Given the description of an element on the screen output the (x, y) to click on. 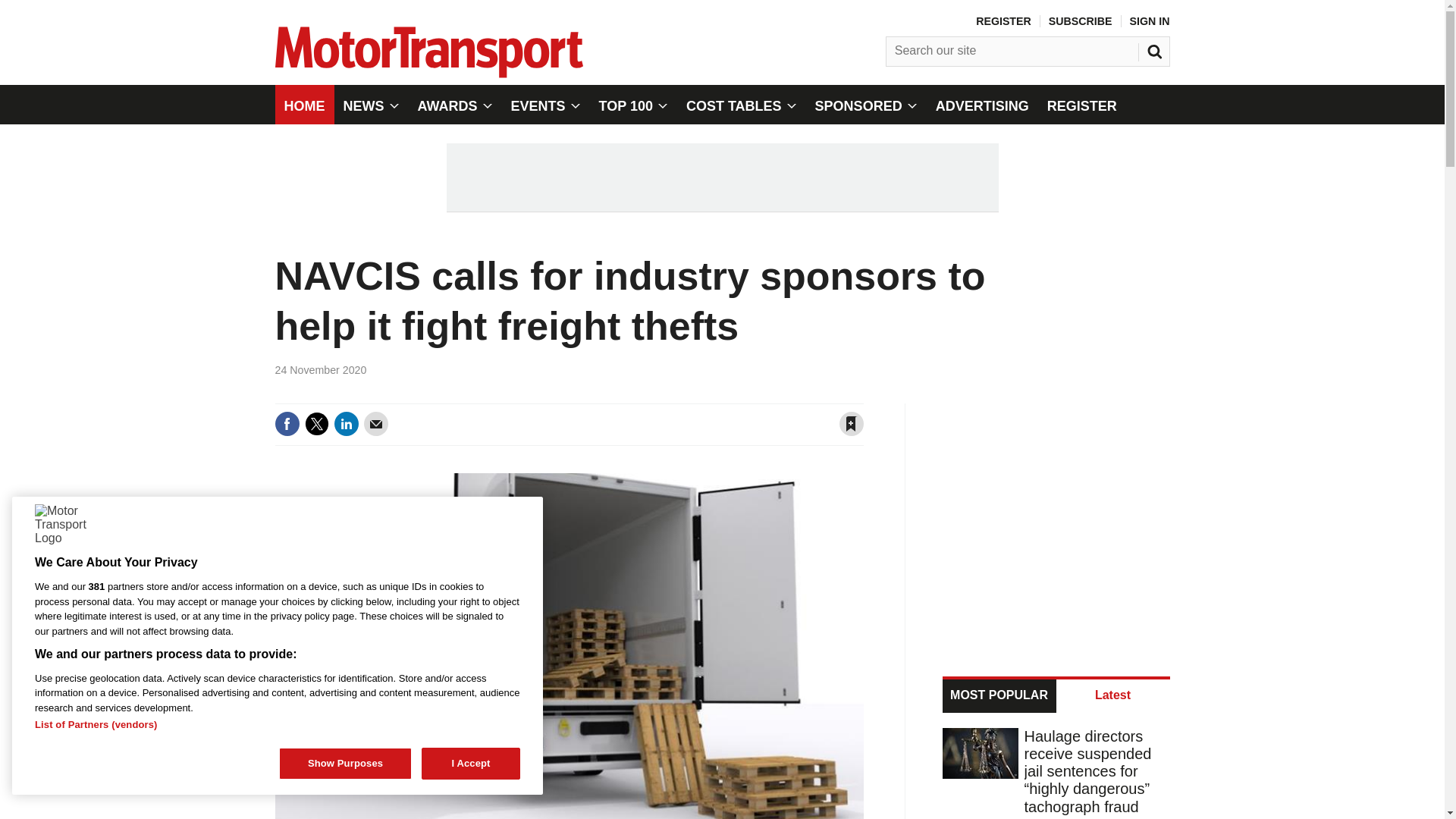
Share this on Facebook (286, 422)
3rd party ad content (721, 177)
Email this article (376, 422)
SUBSCRIBE (1080, 21)
Site name (428, 73)
SIGN IN (1149, 21)
Share this on Twitter (316, 422)
Motor Transport Logo (58, 528)
3rd party ad content (1056, 520)
Share this on Linked in (345, 422)
REGISTER (1002, 21)
SEARCH (1156, 48)
